Given the description of an element on the screen output the (x, y) to click on. 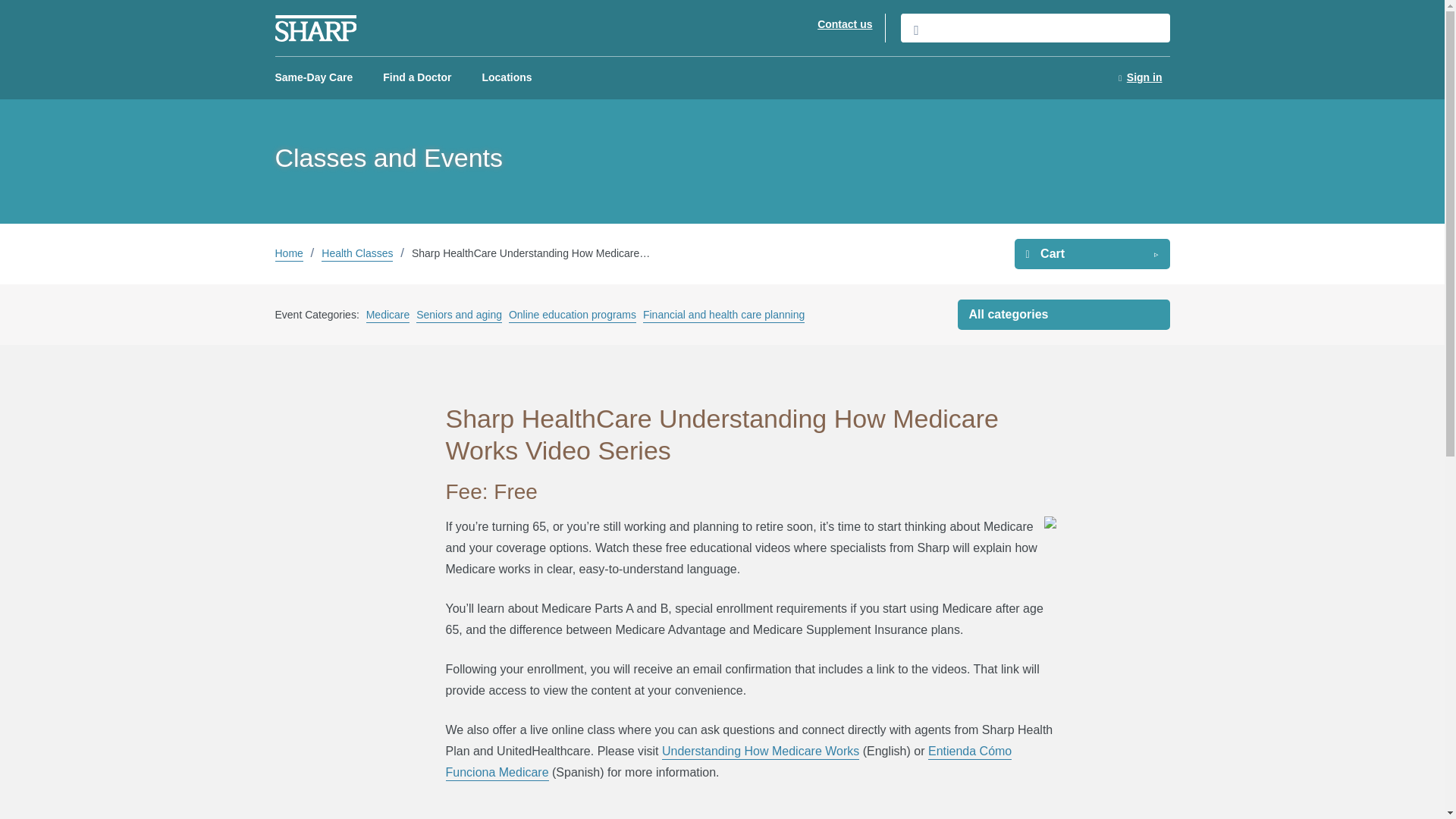
Home (298, 252)
Search (1035, 27)
Health Classes (366, 252)
Contact us (844, 24)
Same-Day Care (312, 77)
Locations (506, 77)
Find a Doctor (416, 77)
  Sign in (1139, 77)
